Given the description of an element on the screen output the (x, y) to click on. 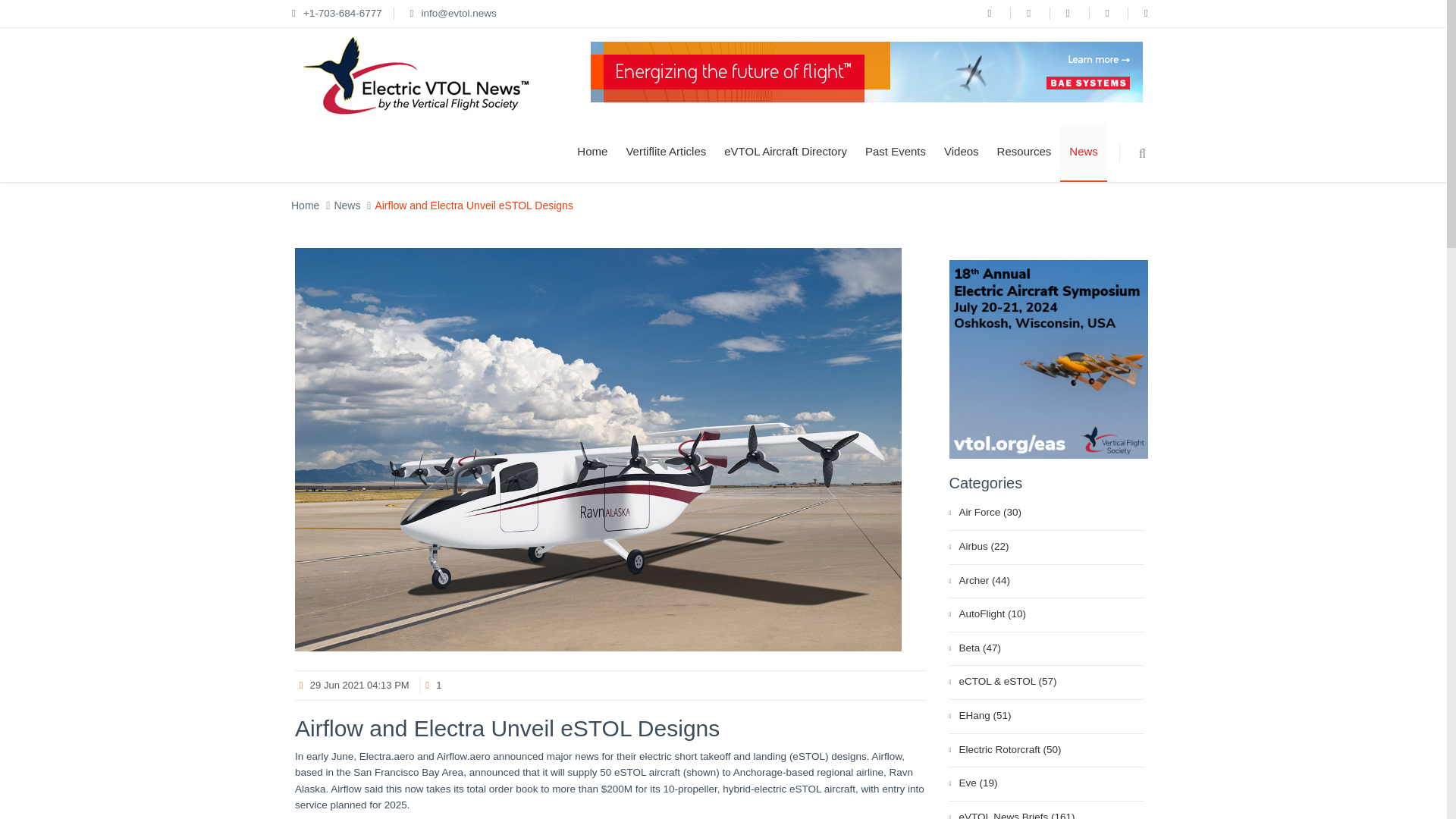
eVTOL Aircraft Directory (785, 151)
Vertiflite Articles (664, 151)
Videos (961, 151)
Filter by Airbus (1046, 547)
Past Events (895, 151)
Comments (430, 685)
News (1082, 151)
Filter by Electric Rotorcraft (1046, 750)
Publish Date (352, 685)
News (346, 205)
Filter by Beta (1046, 649)
Filter by AutoFlight (1046, 615)
Resources (1024, 151)
Filter by Air Force (1046, 513)
Filter by Archer (1046, 581)
